Given the description of an element on the screen output the (x, y) to click on. 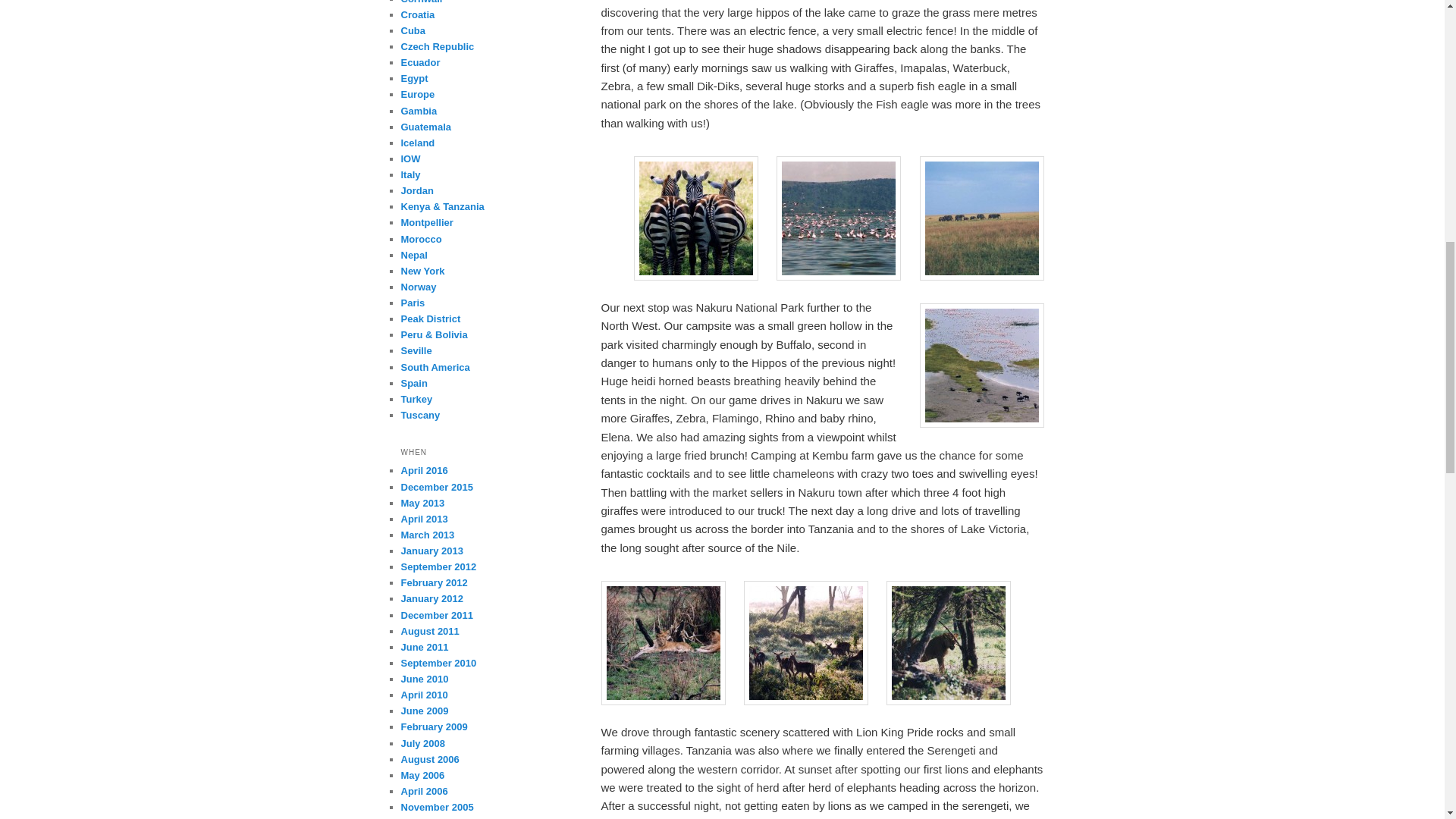
lionwalk (948, 642)
flamingos in flight (838, 218)
impalas (805, 642)
nakuru views (980, 365)
herd of elephants (980, 218)
3lions (662, 642)
zebra bums (695, 218)
